Given the description of an element on the screen output the (x, y) to click on. 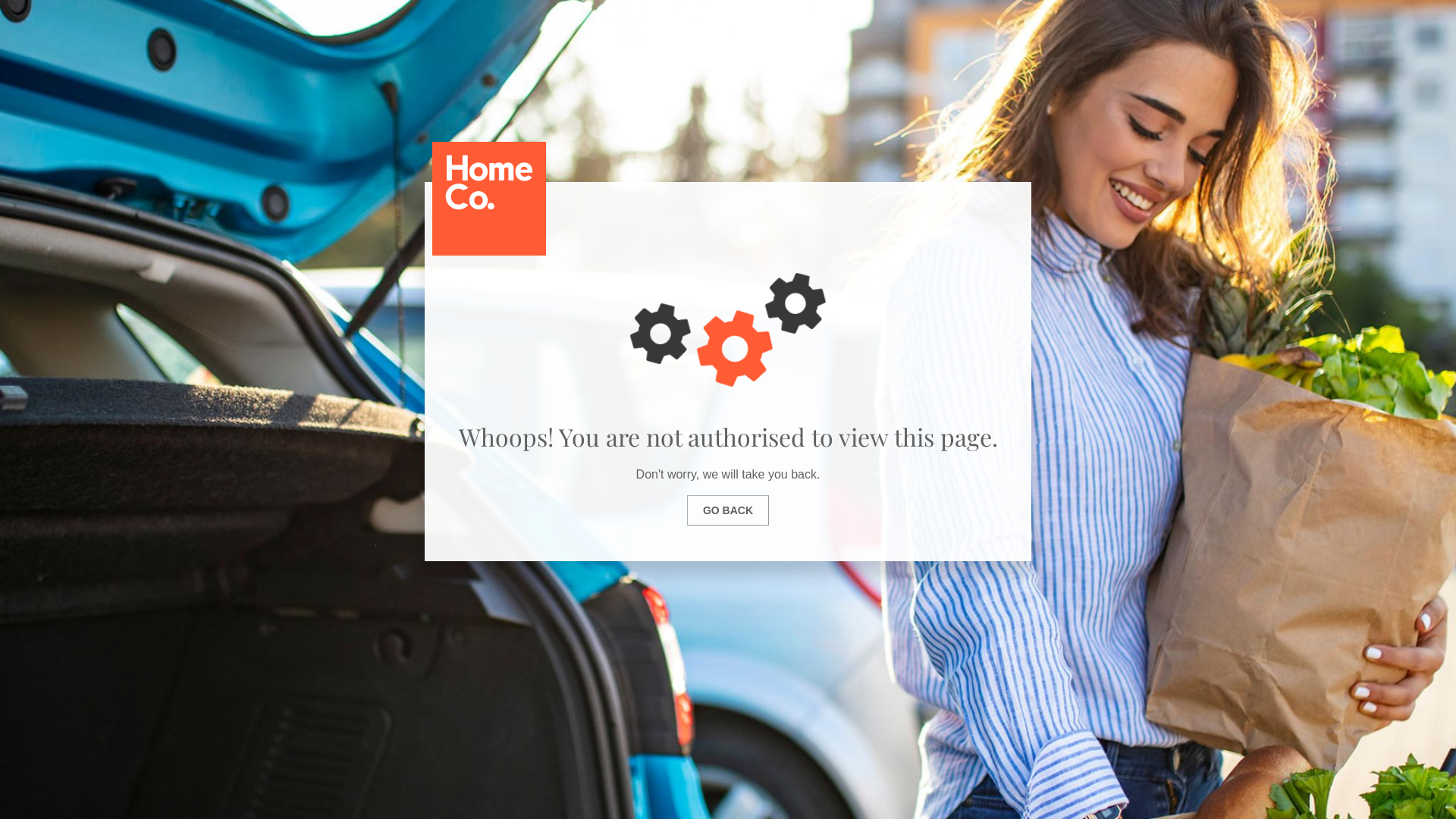
GO BACK Element type: text (727, 510)
